Given the description of an element on the screen output the (x, y) to click on. 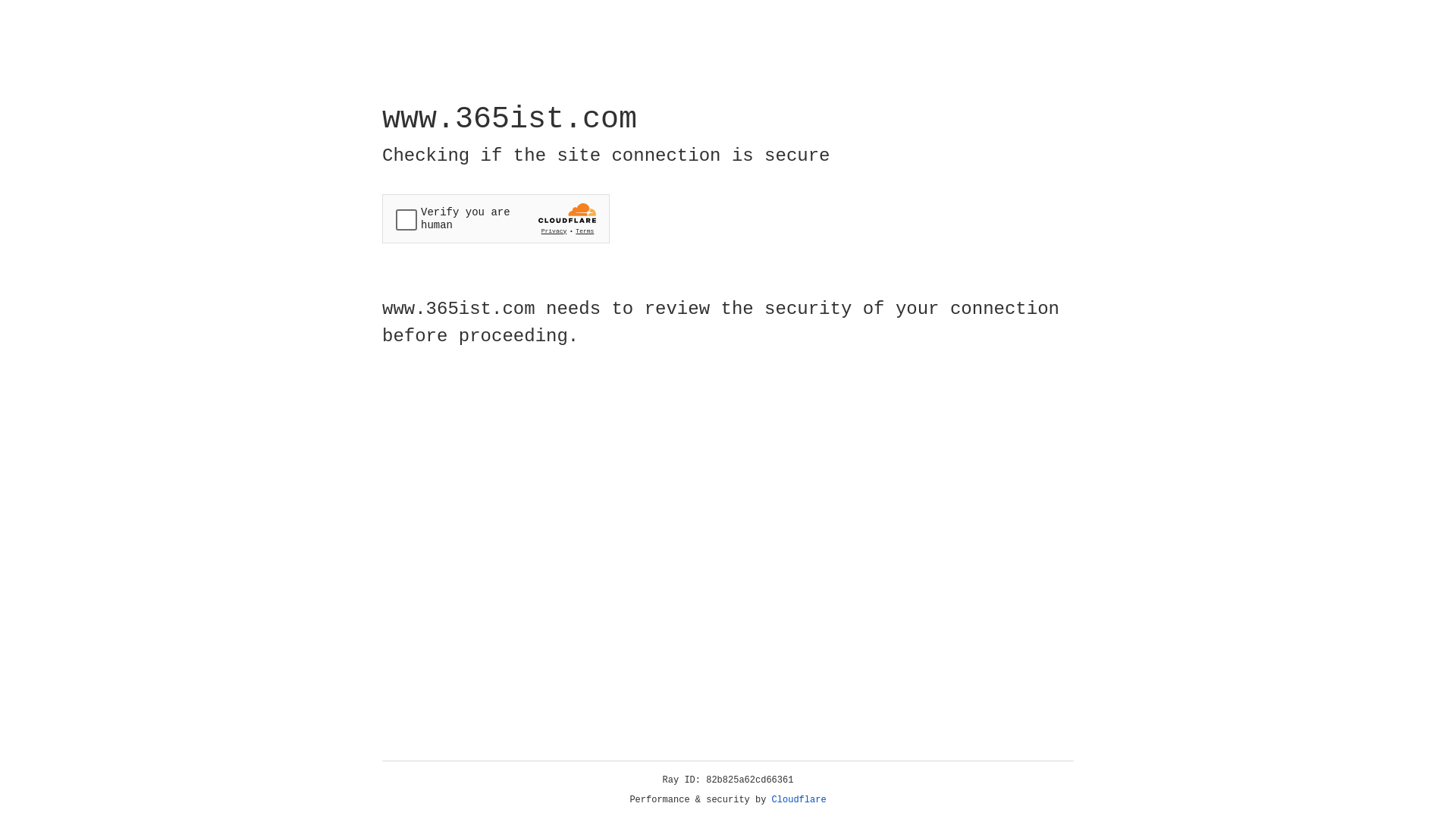
Widget containing a Cloudflare security challenge Element type: hover (495, 218)
Cloudflare Element type: text (798, 799)
